Given the description of an element on the screen output the (x, y) to click on. 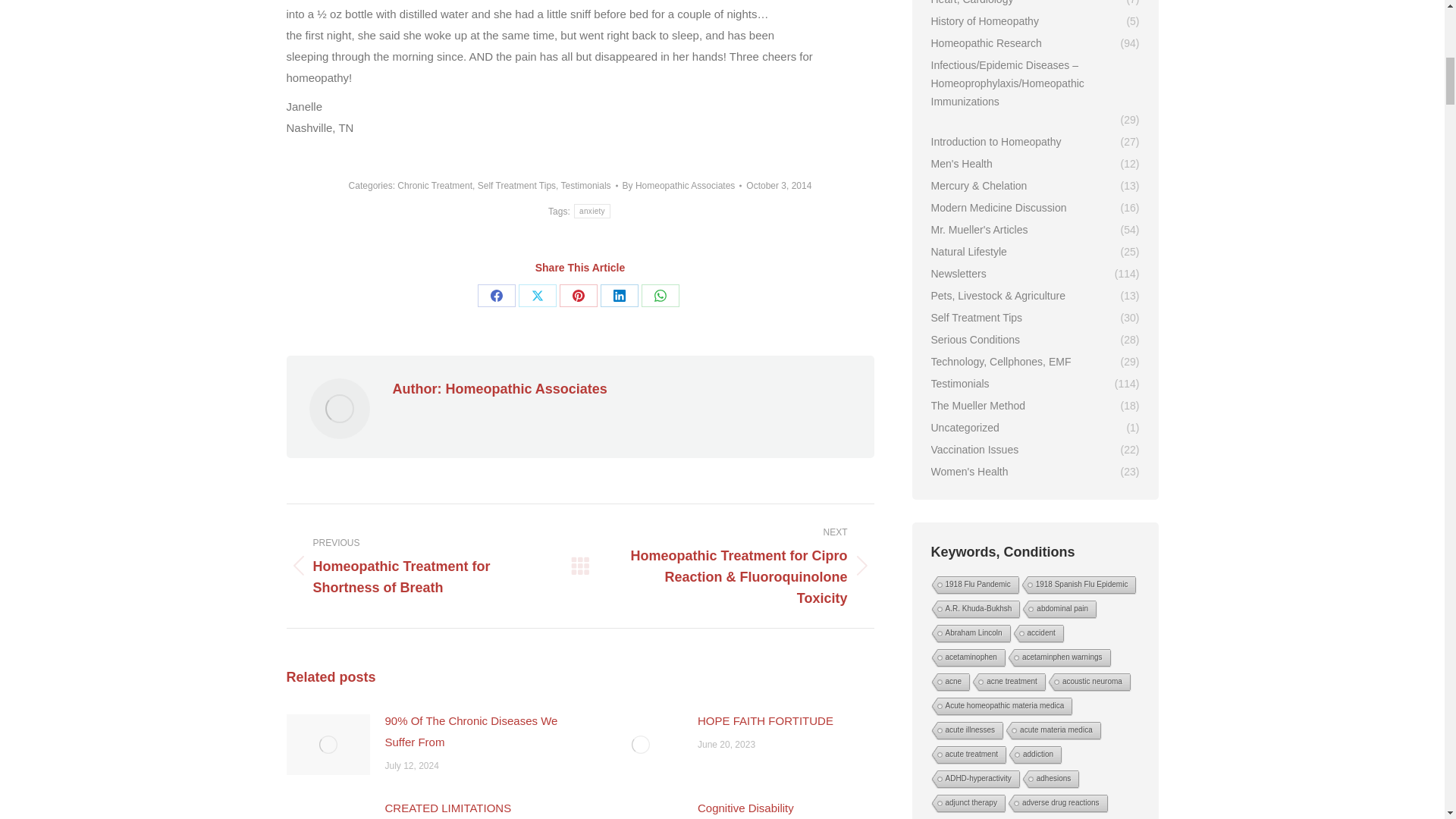
9:44 am (777, 185)
Facebook (496, 295)
Pinterest (577, 295)
View all posts by Homeopathic Associates (682, 185)
LinkedIn (619, 295)
WhatsApp (660, 295)
X (537, 295)
